Given the description of an element on the screen output the (x, y) to click on. 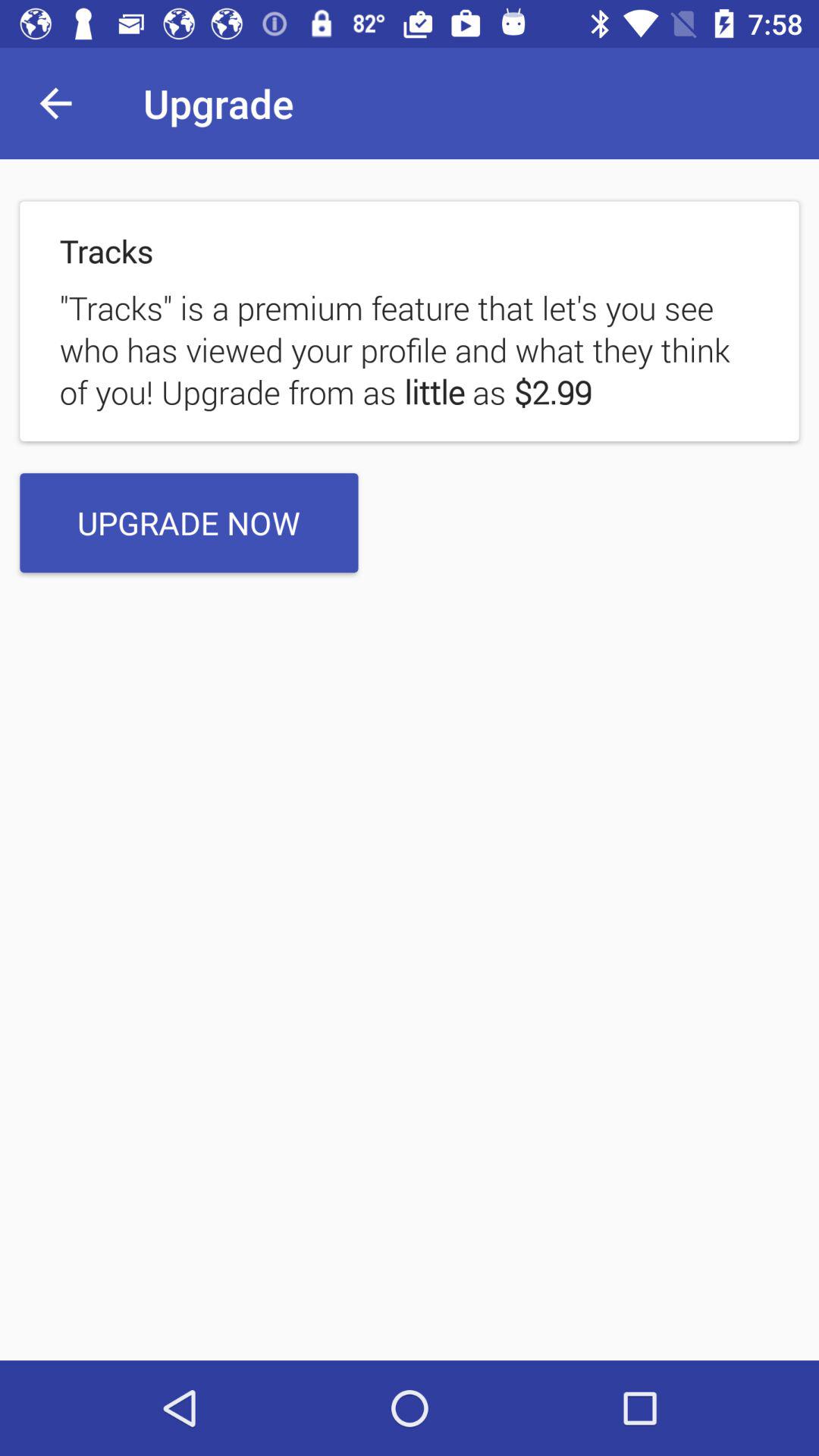
press the icon next to the upgrade icon (55, 103)
